Given the description of an element on the screen output the (x, y) to click on. 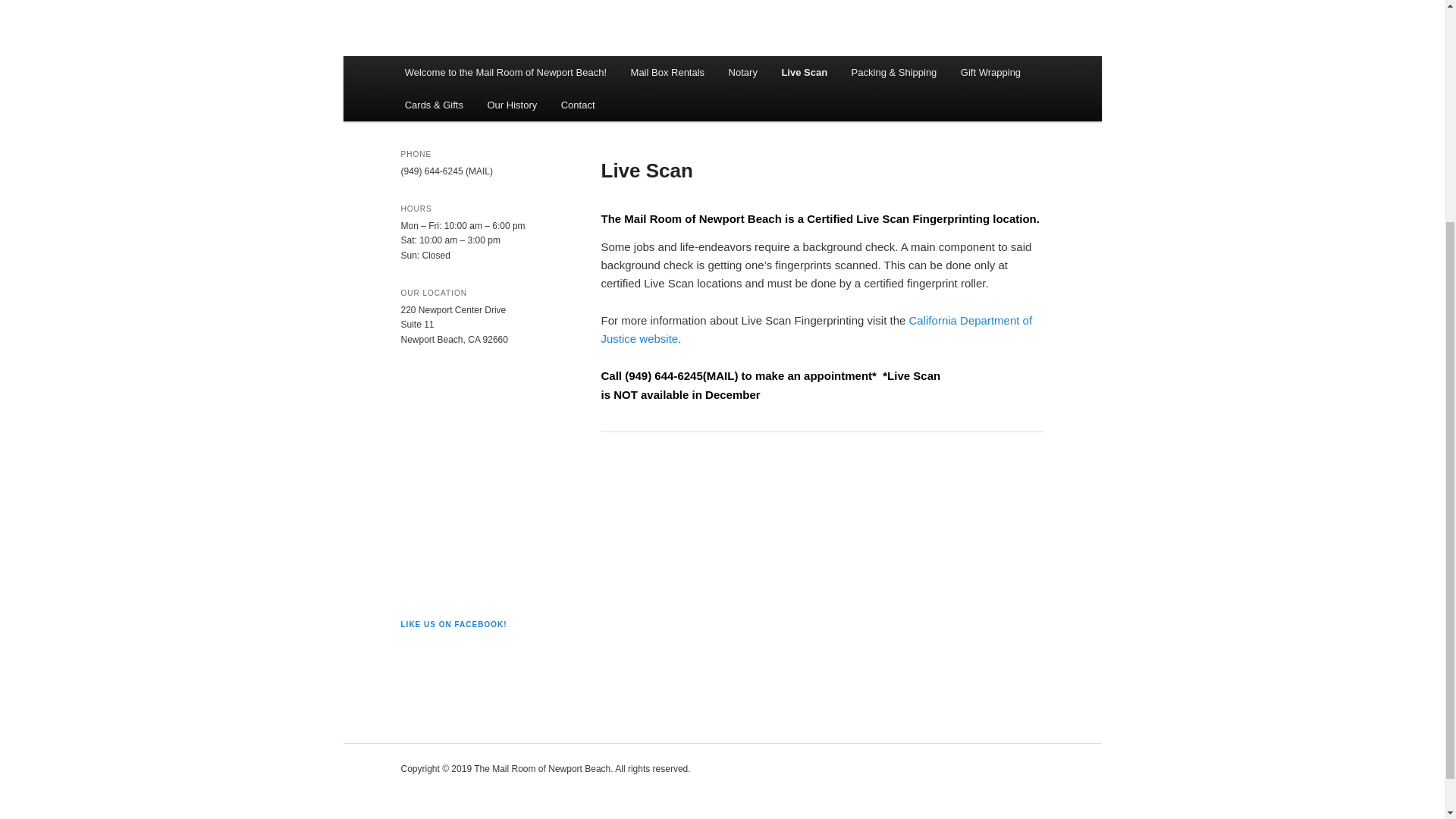
Contact (577, 104)
Welcome to the Mail Room of Newport Beach! (505, 72)
California Department of Justice website (815, 328)
Mail Box Rentals (667, 72)
Live Scan (805, 72)
Live Scan Info (815, 328)
Our History (512, 104)
LIKE US ON FACEBOOK! (453, 623)
Gift Wrapping (990, 72)
Notary (743, 72)
